Given the description of an element on the screen output the (x, y) to click on. 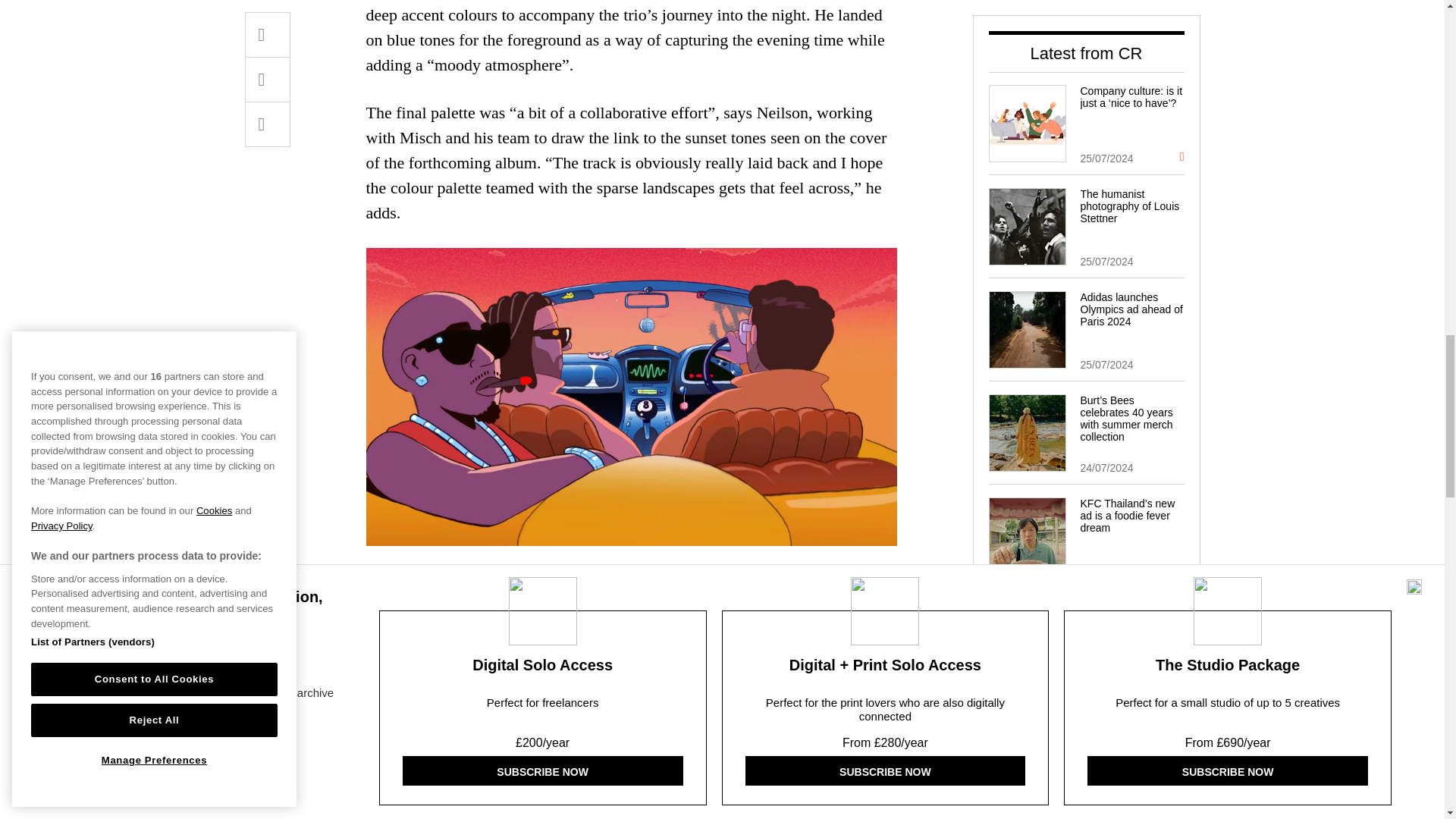
animation (841, 588)
